Given the description of an element on the screen output the (x, y) to click on. 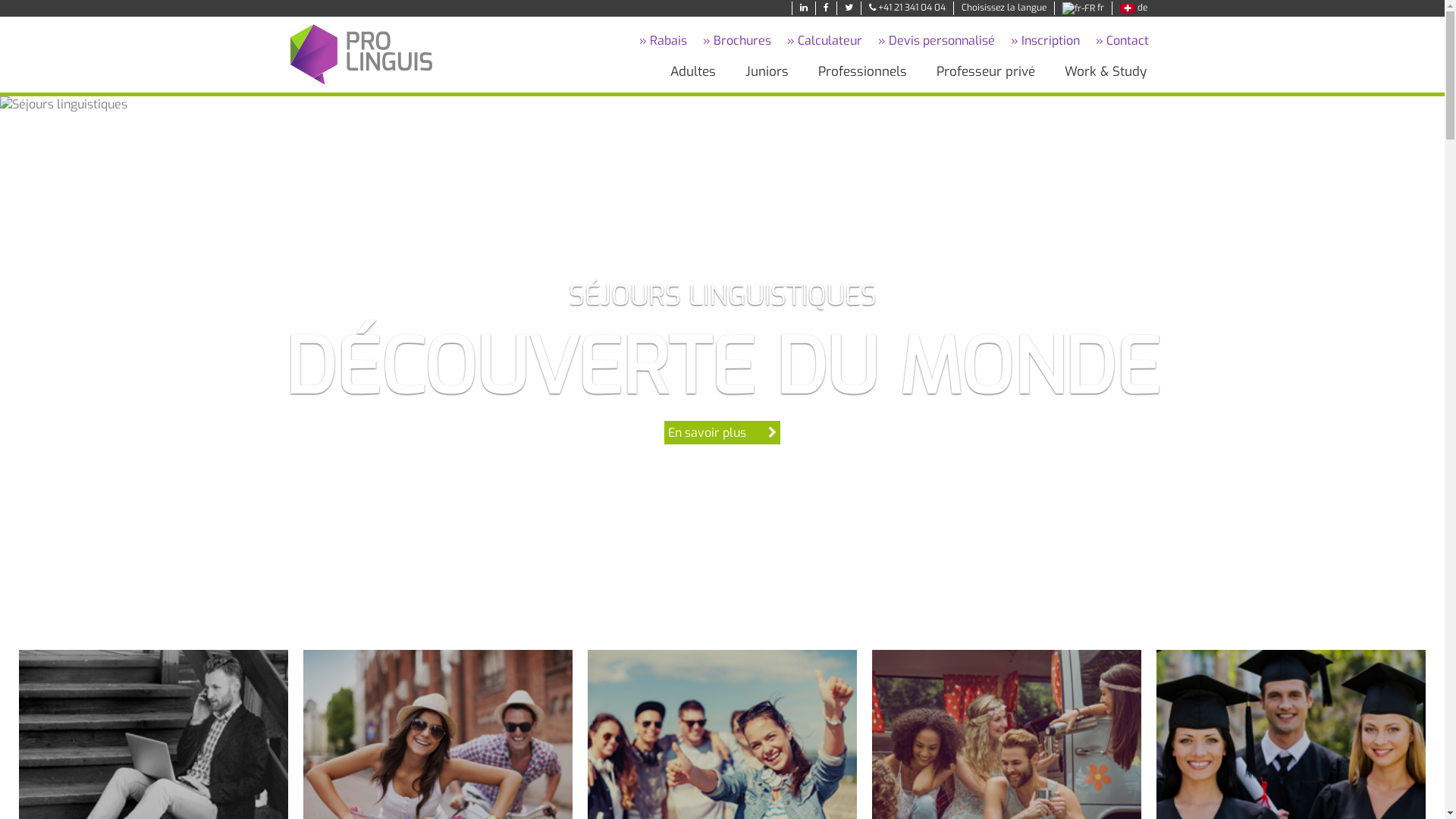
+41 21 341 04 04 Element type: text (907, 7)
Professionnels Element type: text (860, 71)
En savoir plus Element type: text (722, 432)
Juniors Element type: text (765, 71)
Choisissez la langue Element type: text (1003, 7)
de Element type: text (1133, 7)
fr Element type: text (1082, 7)
Adultes Element type: text (692, 71)
facebook Element type: hover (825, 7)
linkedin Element type: hover (803, 7)
twitter Element type: hover (848, 7)
Work & Study Element type: text (1104, 71)
